Given the description of an element on the screen output the (x, y) to click on. 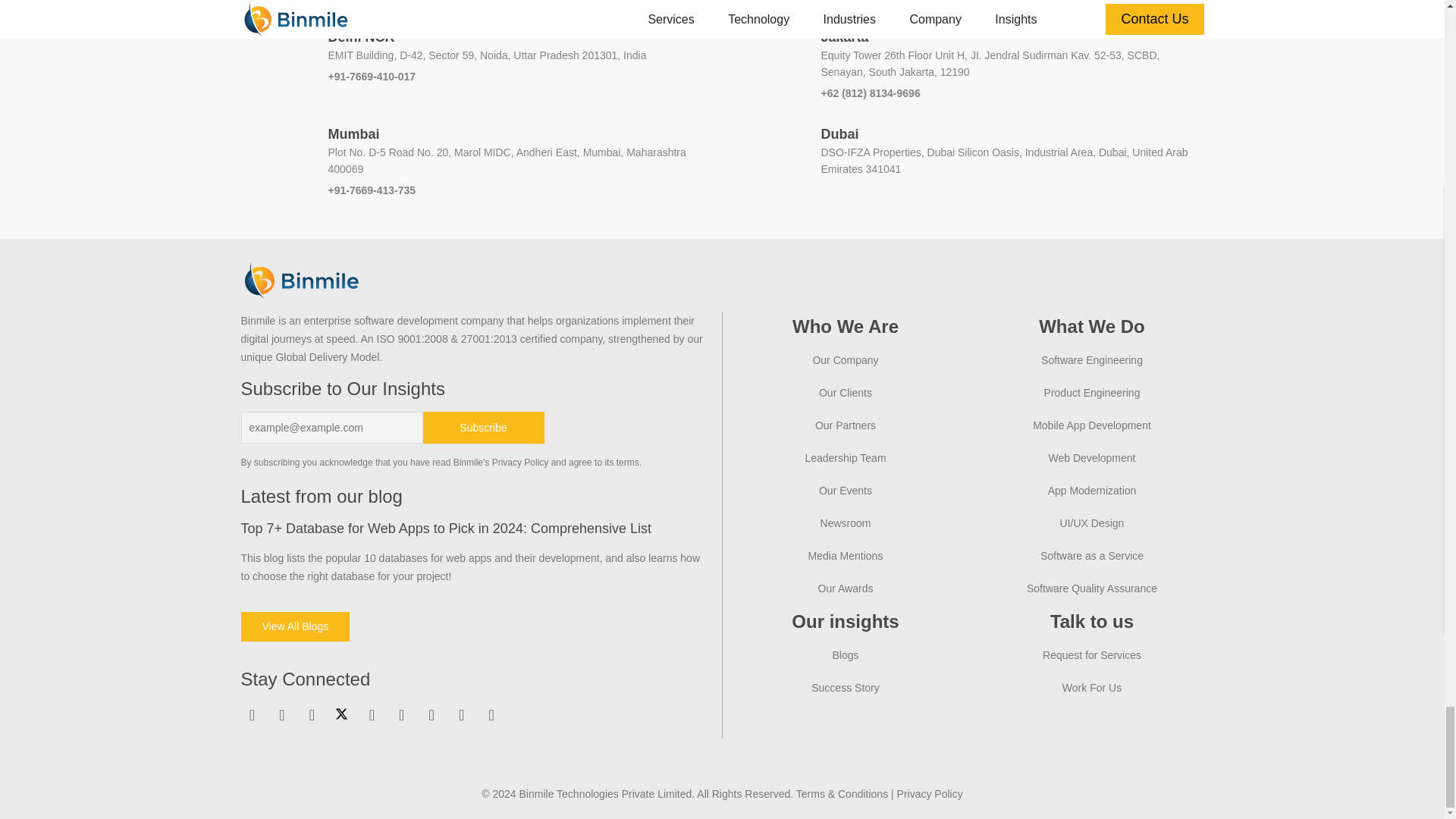
Twitter (341, 712)
Subscribe (483, 427)
Binmile (301, 280)
Instagram (311, 714)
LinkedIn (252, 714)
Facebook (282, 714)
